Given the description of an element on the screen output the (x, y) to click on. 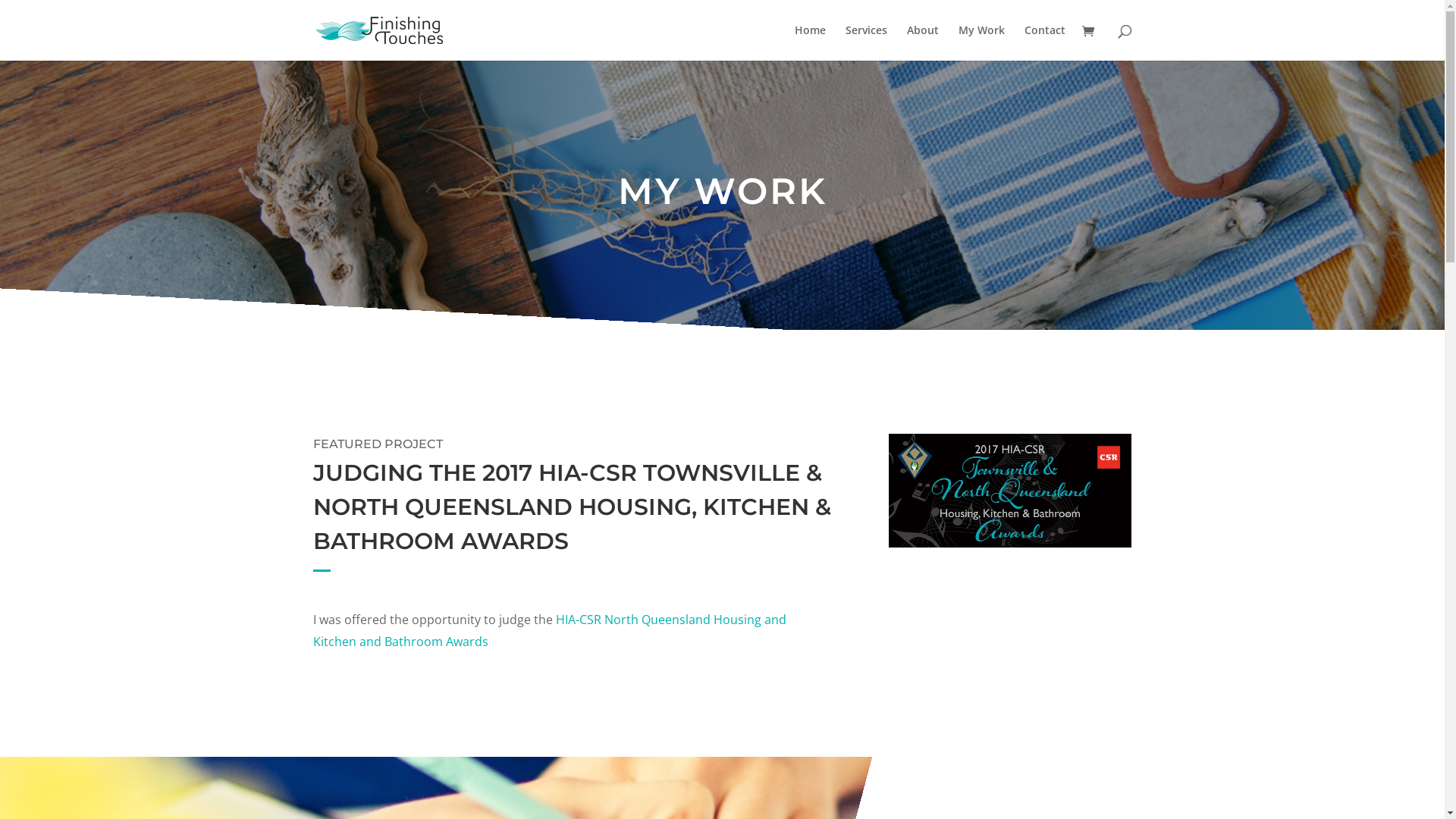
Services Element type: text (865, 42)
About Element type: text (922, 42)
Home Element type: text (809, 42)
Contact Element type: text (1043, 42)
My Work Element type: text (981, 42)
